Given the description of an element on the screen output the (x, y) to click on. 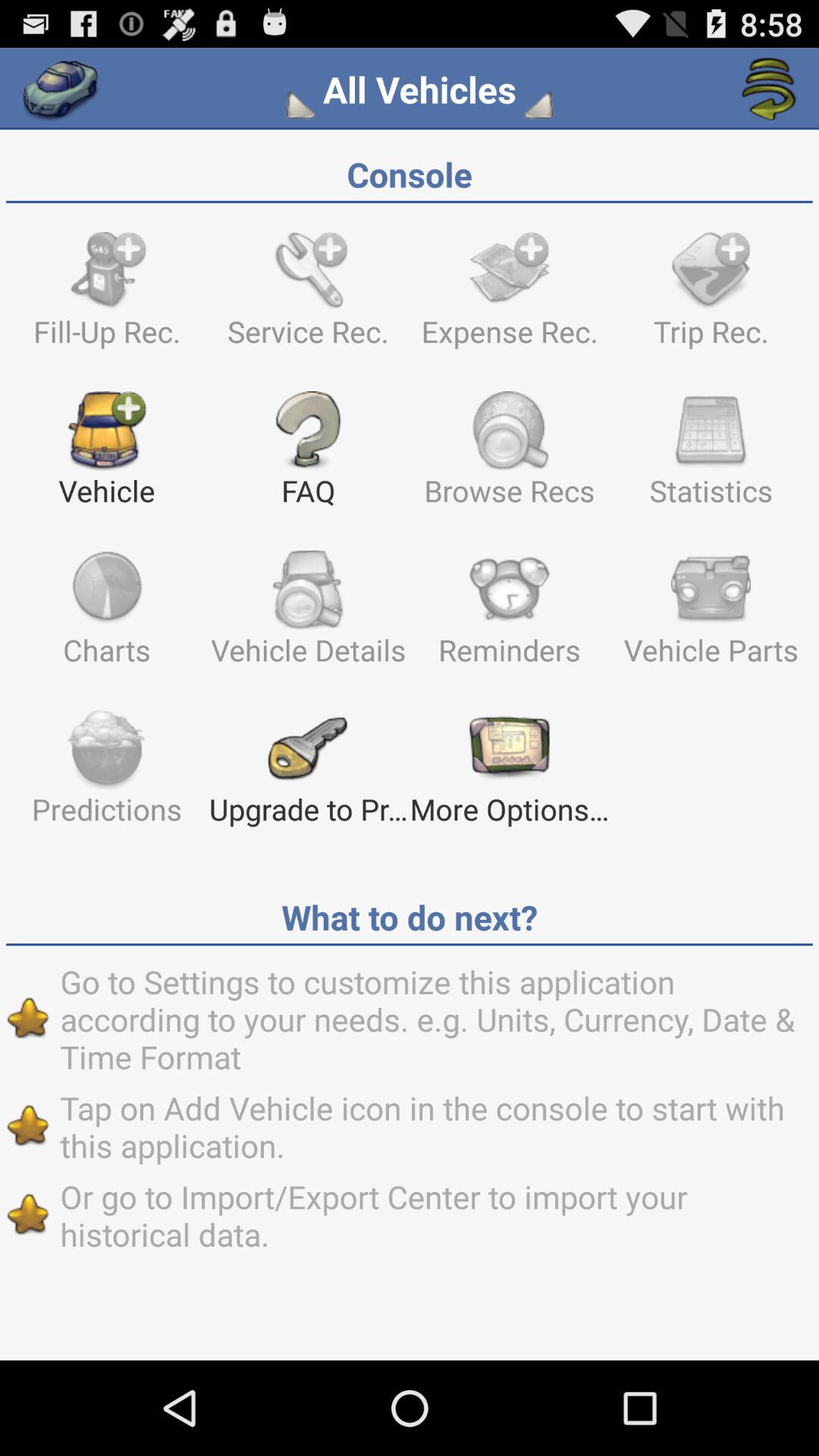
select the item below the expense rec. (710, 455)
